Given the description of an element on the screen output the (x, y) to click on. 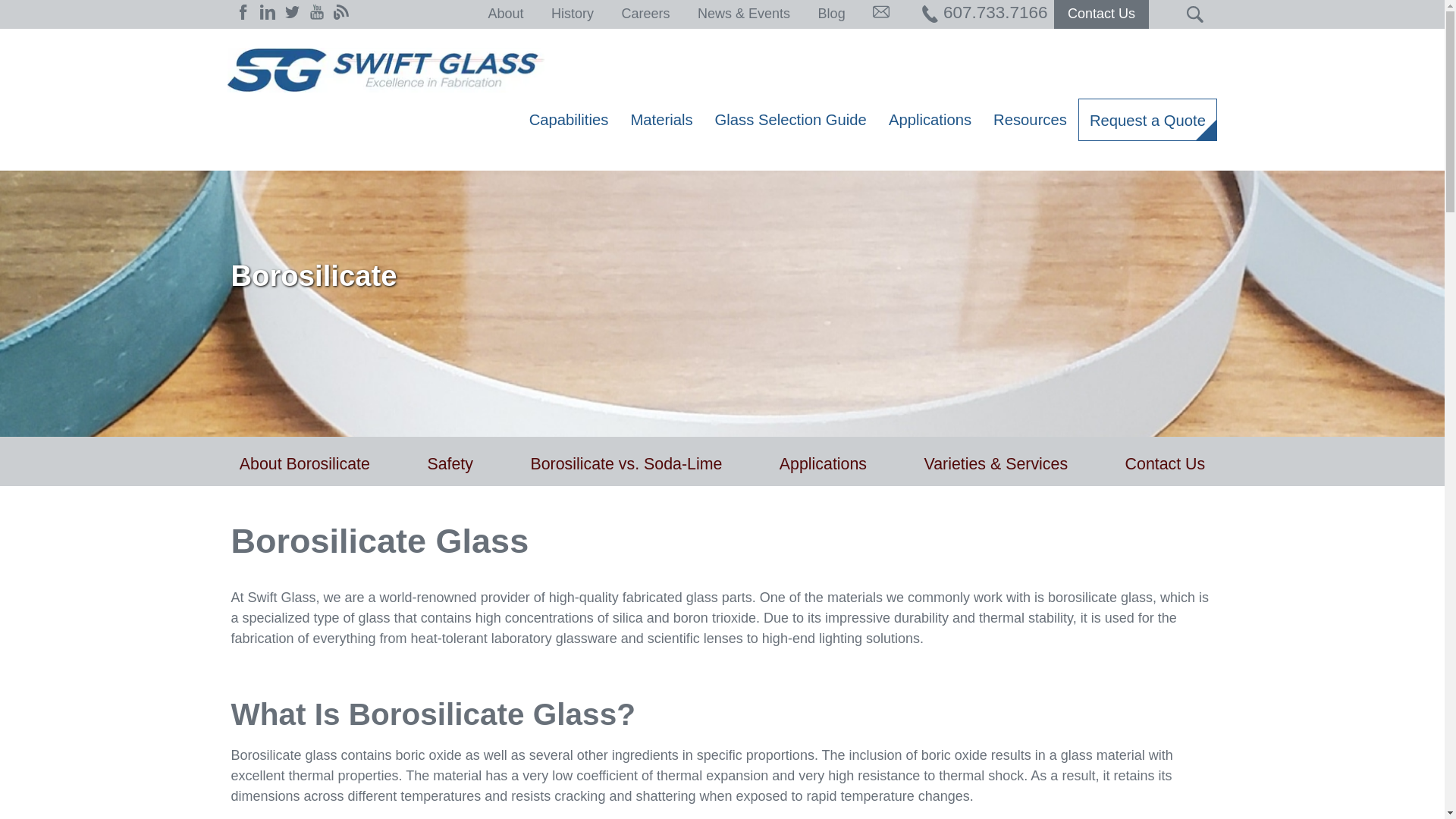
Capabilities (569, 119)
Borosilicate vs. Soda-Lime (625, 466)
Materials (661, 119)
Applications (822, 466)
Contact Us (1165, 466)
Safety (449, 466)
About (504, 14)
Careers (645, 14)
607.733.7166 (984, 12)
Contact Us (1101, 14)
History (572, 14)
Blog (831, 13)
About Borosilicate (304, 466)
